Given the description of an element on the screen output the (x, y) to click on. 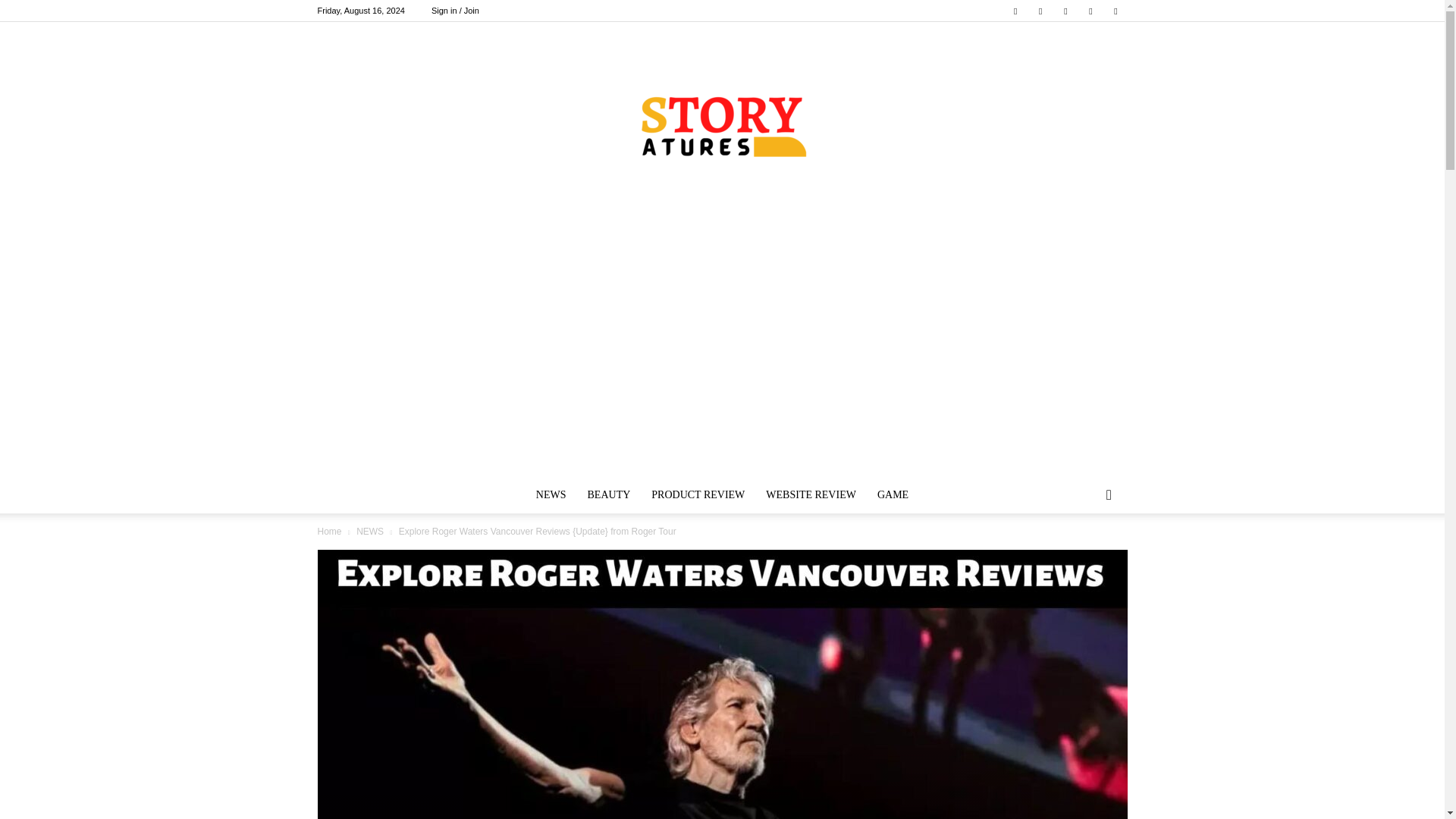
View all posts in NEWS (370, 531)
Search (1085, 555)
GAME (892, 494)
WEBSITE REVIEW (810, 494)
Vimeo (1065, 10)
Facebook (1015, 10)
Twitter (1040, 10)
PRODUCT REVIEW (697, 494)
Youtube (1114, 10)
BEAUTY (609, 494)
